Given the description of an element on the screen output the (x, y) to click on. 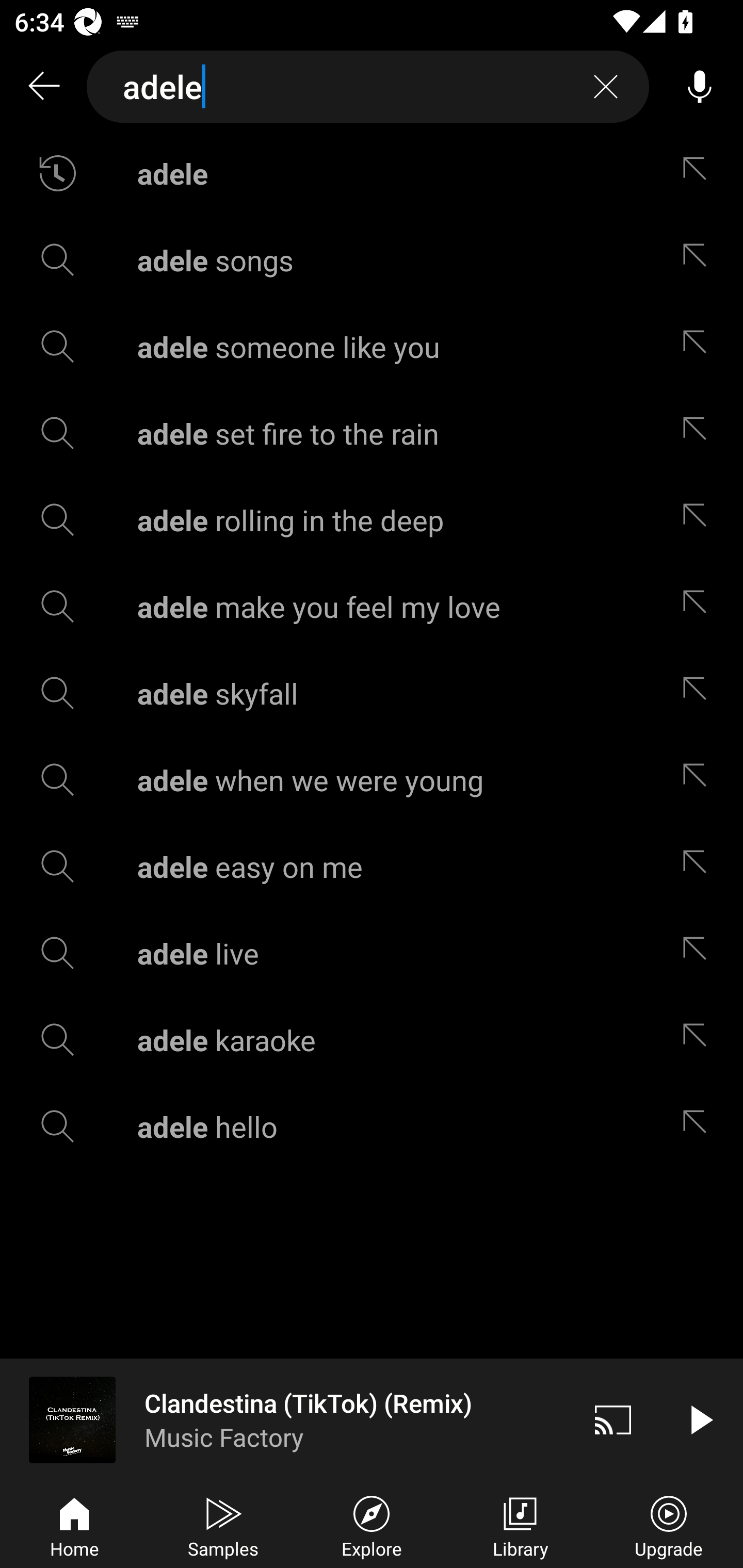
Search back (43, 86)
adele (367, 86)
Clear search (605, 86)
Voice search (699, 86)
adele Edit suggestion adele (371, 173)
Edit suggestion adele (699, 173)
adele songs Edit suggestion adele songs (371, 259)
Edit suggestion adele songs (699, 259)
Edit suggestion adele someone like you (699, 346)
Edit suggestion adele set fire to the rain (699, 433)
Edit suggestion adele rolling in the deep (699, 519)
Edit suggestion adele make you feel my love (699, 605)
adele skyfall Edit suggestion adele skyfall (371, 692)
Edit suggestion adele skyfall (699, 692)
Edit suggestion adele when we were young (699, 779)
adele easy on me Edit suggestion adele easy on me (371, 866)
Edit suggestion adele easy on me (699, 866)
adele live Edit suggestion adele live (371, 953)
Edit suggestion adele live (699, 953)
adele karaoke Edit suggestion adele karaoke (371, 1040)
Edit suggestion adele karaoke (699, 1040)
adele hello Edit suggestion adele hello (371, 1126)
Edit suggestion adele hello (699, 1126)
Clandestina (TikTok) (Remix) Music Factory (284, 1419)
Cast. Disconnected (612, 1419)
Play video (699, 1419)
Home (74, 1524)
Samples (222, 1524)
Explore (371, 1524)
Library (519, 1524)
Upgrade (668, 1524)
